Given the description of an element on the screen output the (x, y) to click on. 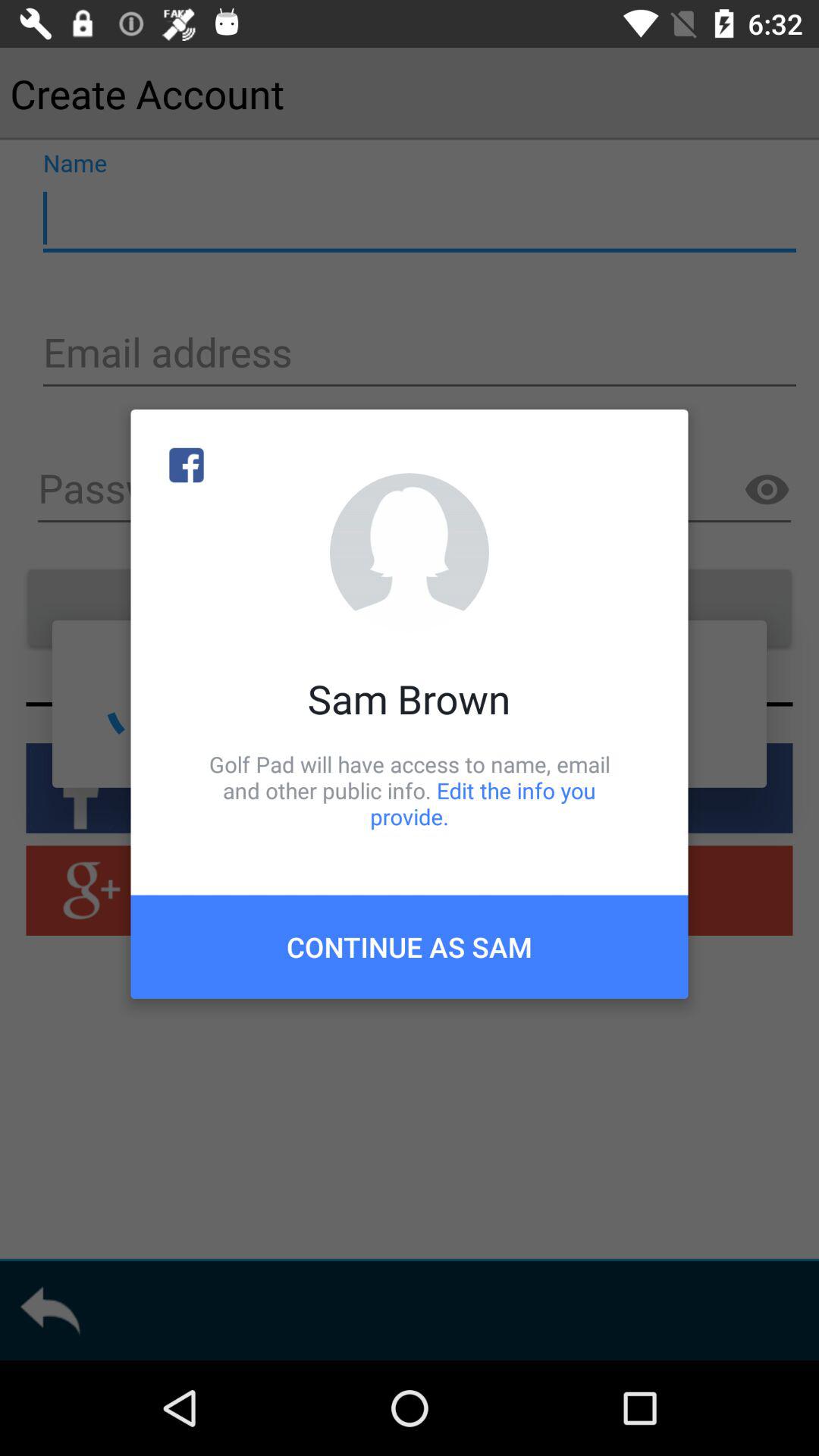
select item below golf pad will icon (409, 946)
